Given the description of an element on the screen output the (x, y) to click on. 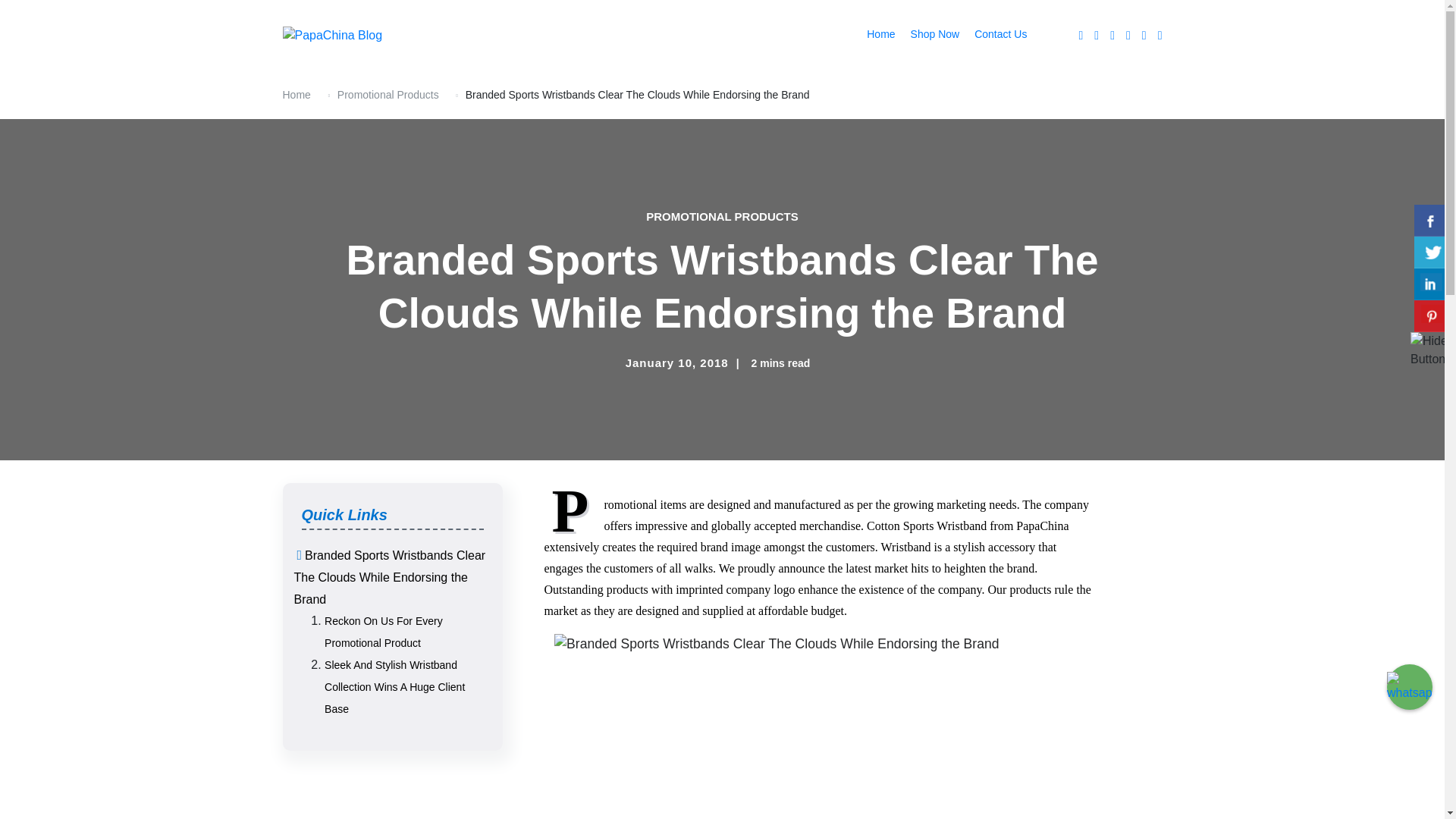
Shop Now (935, 35)
PROMOTIONAL PRODUCTS (721, 217)
Promotional Products (388, 94)
PapaChina (323, 58)
January 10, 2018 (677, 362)
Home (296, 94)
Reckon On Us For Every Promotional Product (383, 632)
P (574, 511)
